Given the description of an element on the screen output the (x, y) to click on. 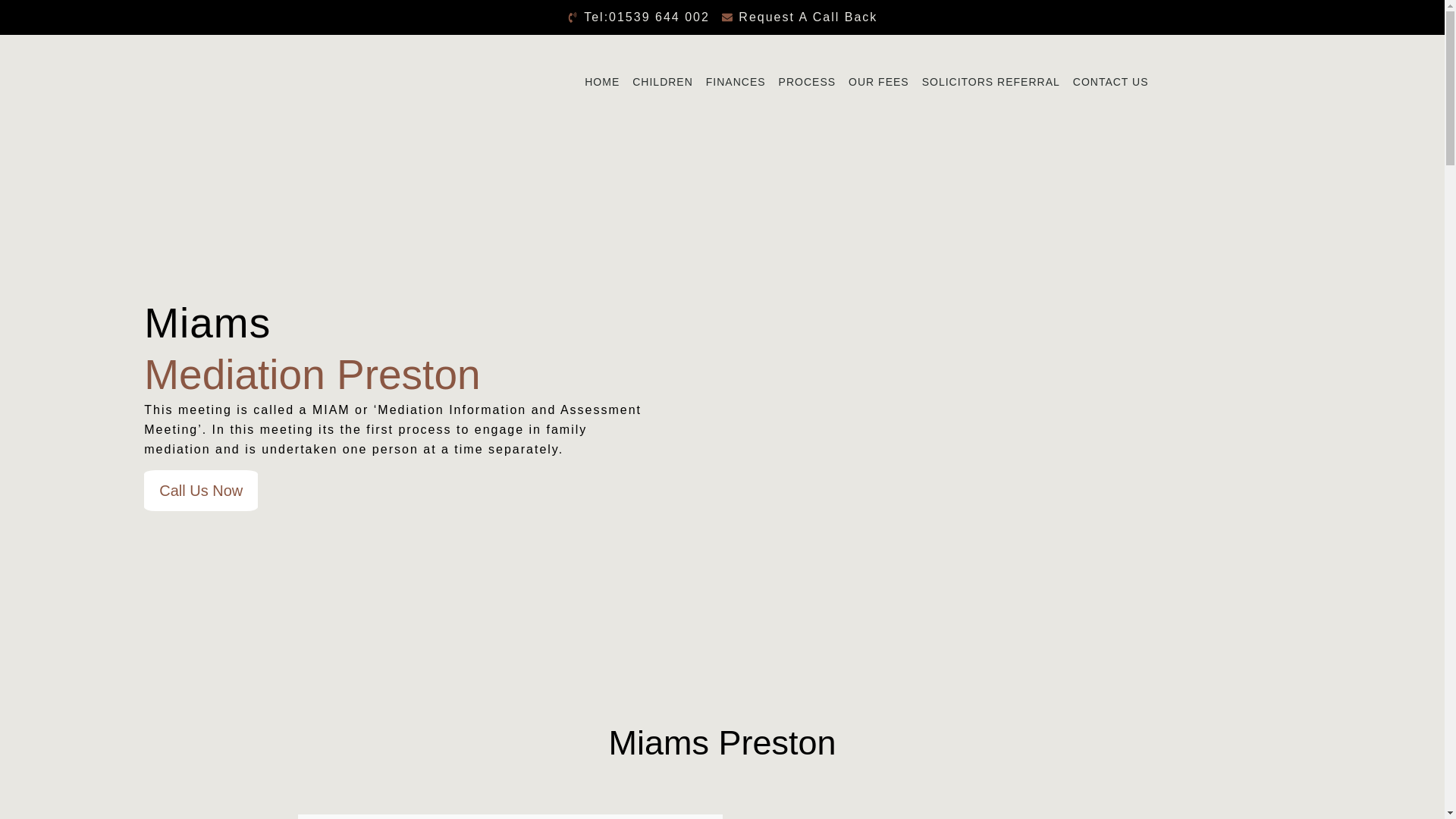
Tel:01539 644 002 (638, 17)
SOLICITORS REFERRAL (990, 82)
Request A Call Back (799, 17)
CONTACT US (1110, 82)
